Given the description of an element on the screen output the (x, y) to click on. 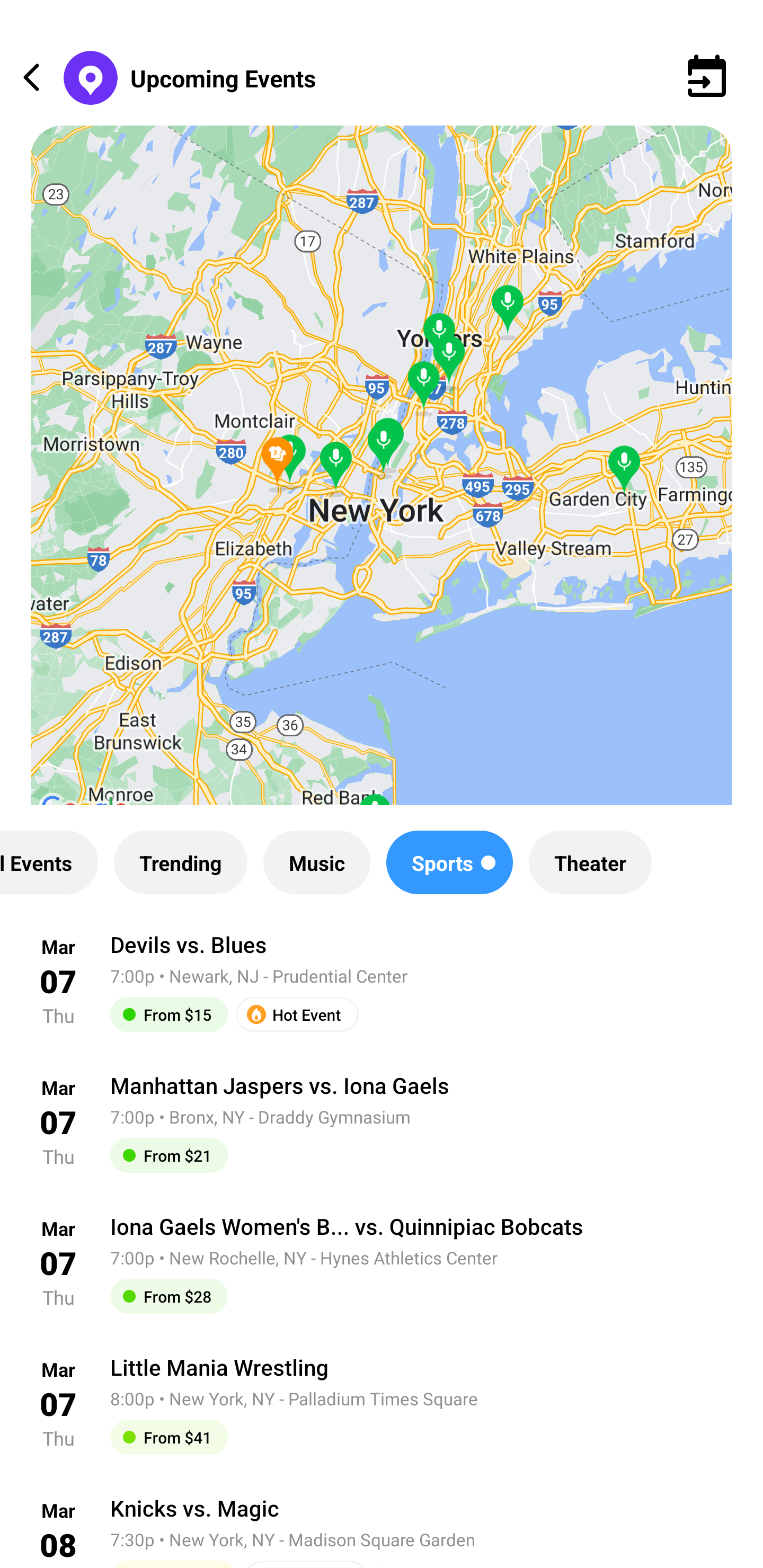
Trending (180, 862)
Music (316, 862)
Sports (449, 862)
Theater (589, 862)
